Given the description of an element on the screen output the (x, y) to click on. 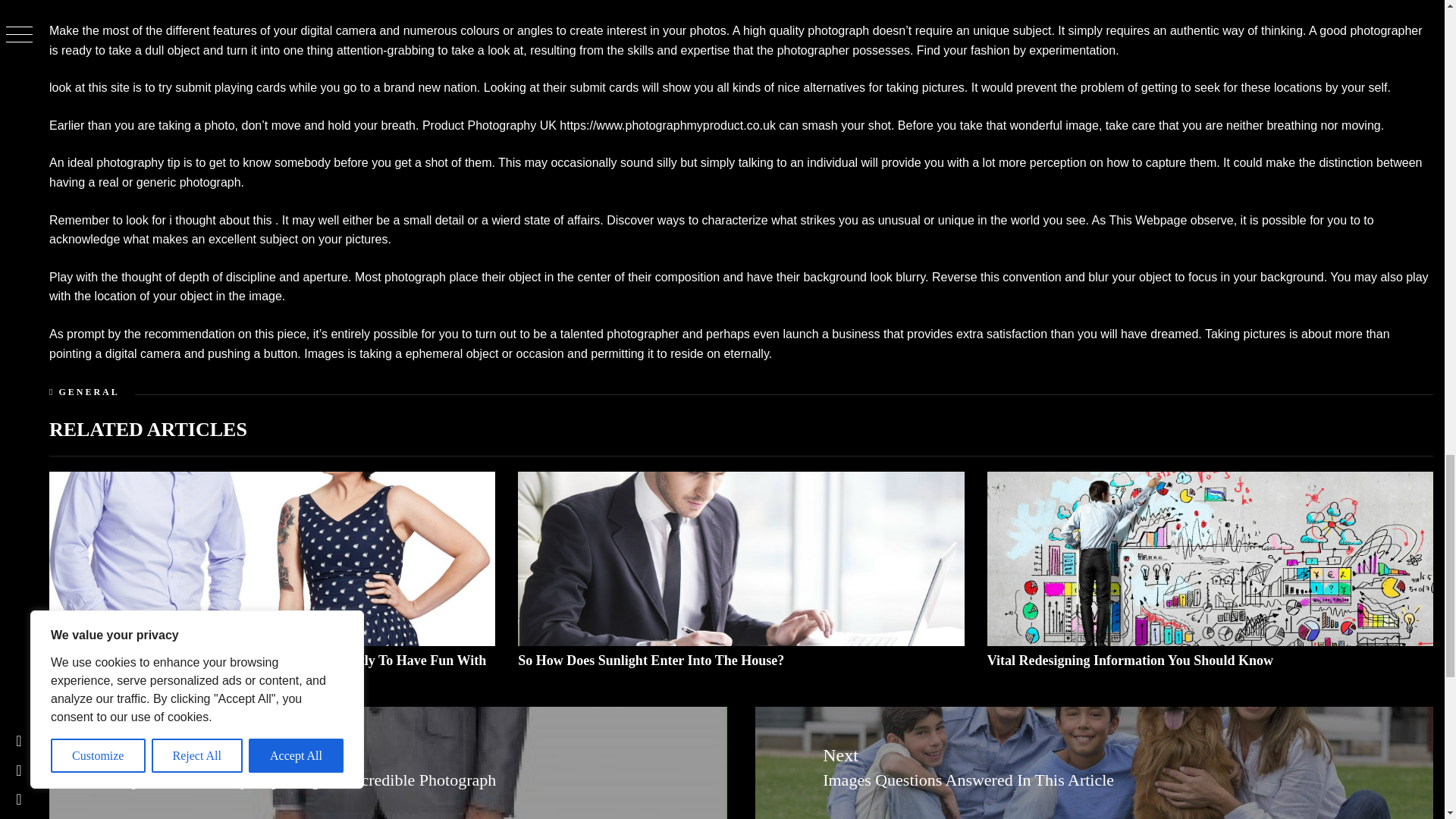
look at this site (89, 87)
GENERAL (88, 391)
This Webpage (1147, 219)
So How Does Sunlight Enter Into The House? (651, 660)
i thought about this (219, 219)
